Given the description of an element on the screen output the (x, y) to click on. 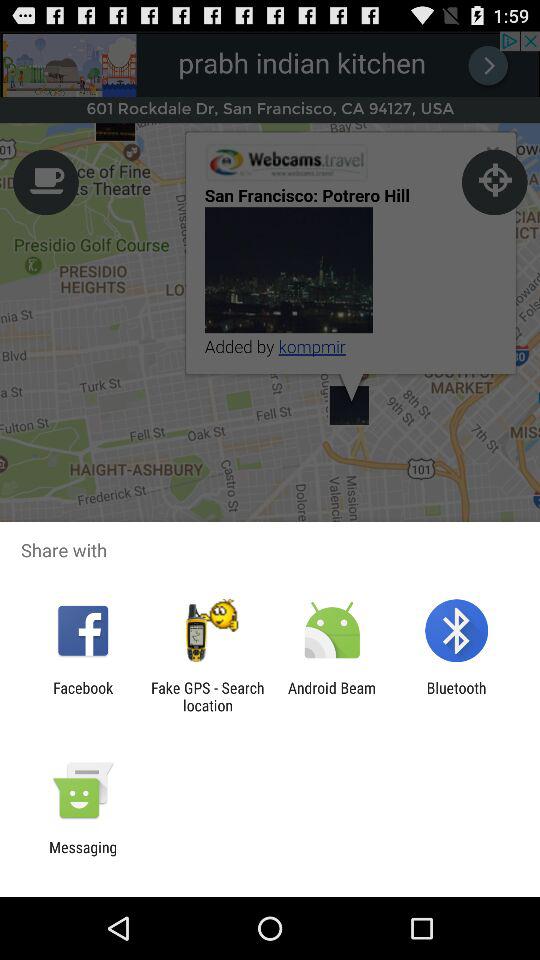
turn off android beam (332, 696)
